Given the description of an element on the screen output the (x, y) to click on. 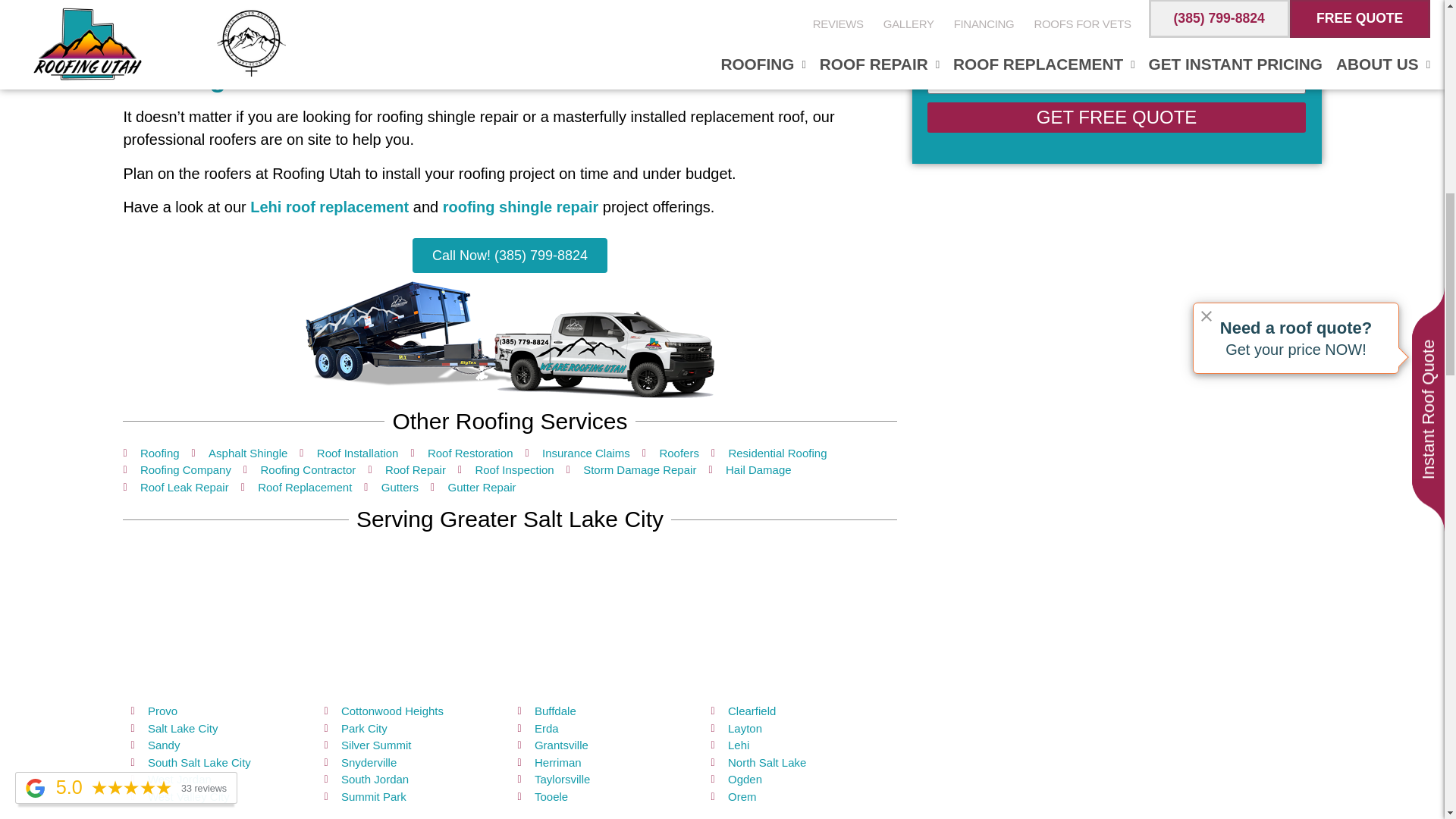
lehi, Utah (509, 618)
